Given the description of an element on the screen output the (x, y) to click on. 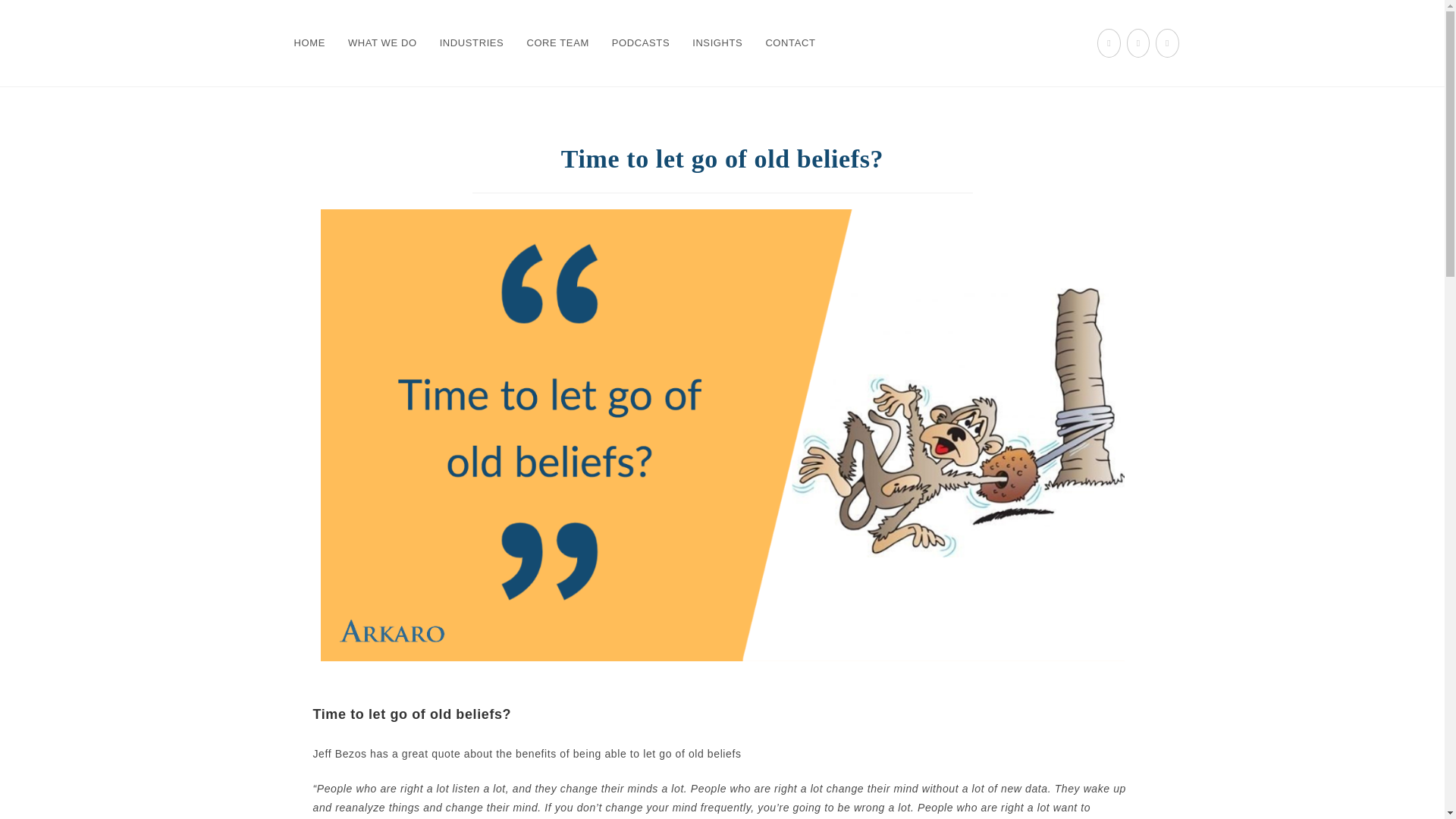
WHAT WE DO (382, 43)
PODCASTS (640, 43)
CONTACT (790, 43)
INDUSTRIES (471, 43)
HOME (309, 43)
CORE TEAM (557, 43)
INSIGHTS (717, 43)
